Given the description of an element on the screen output the (x, y) to click on. 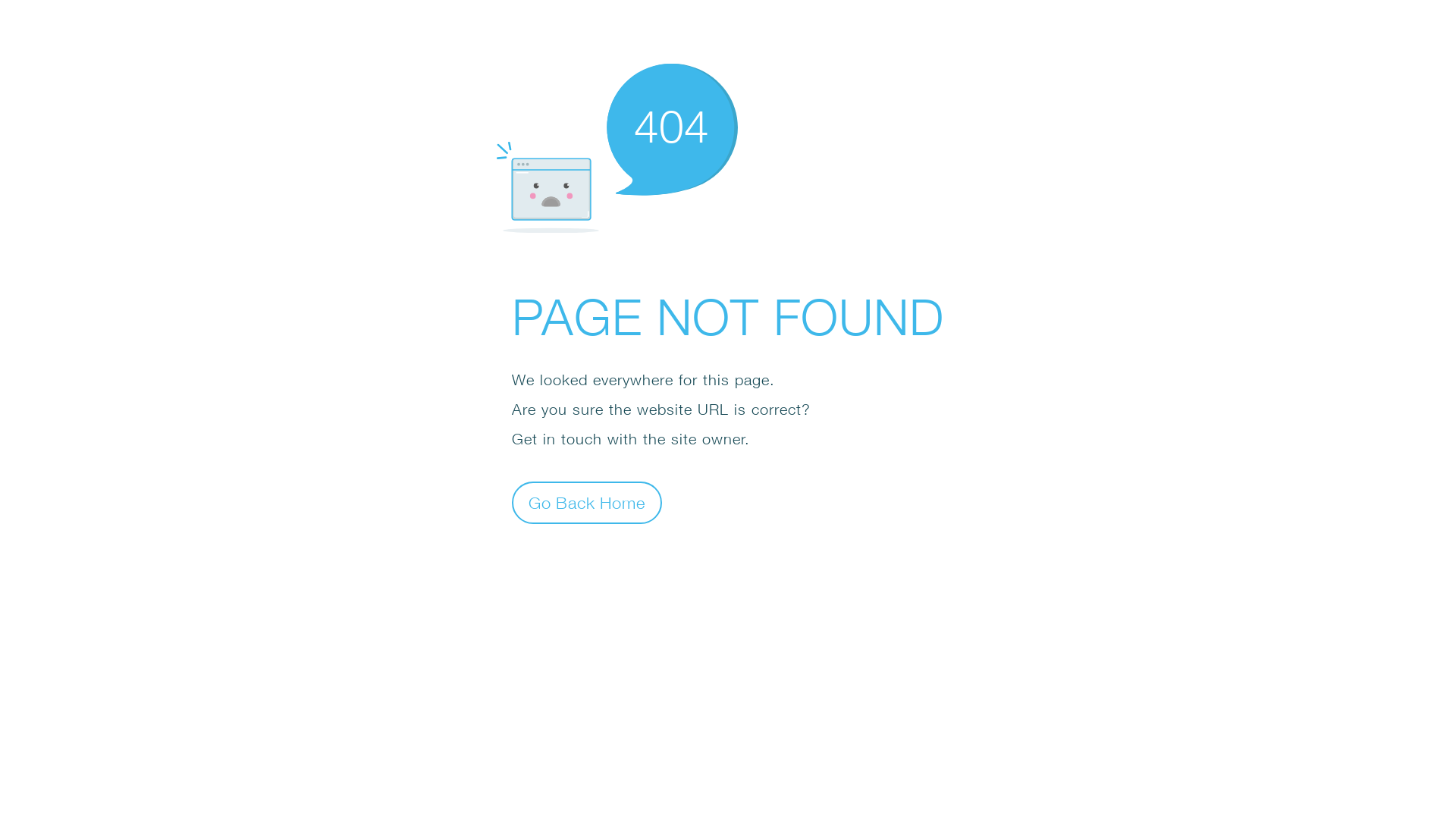
Go Back Home Element type: text (586, 502)
